Given the description of an element on the screen output the (x, y) to click on. 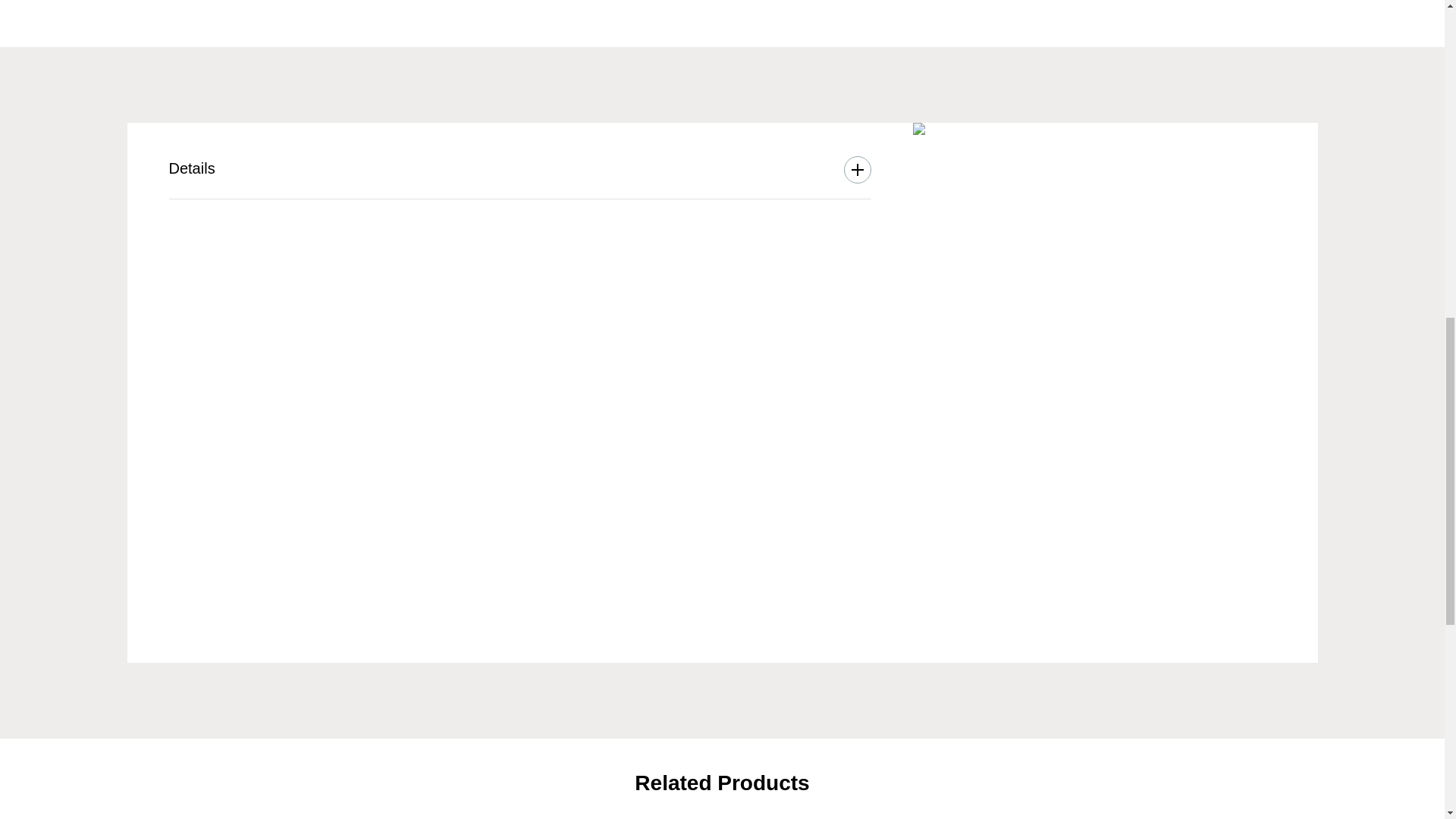
"Reiss" Black and Brown Leather Watch Pouch (918, 128)
